Given the description of an element on the screen output the (x, y) to click on. 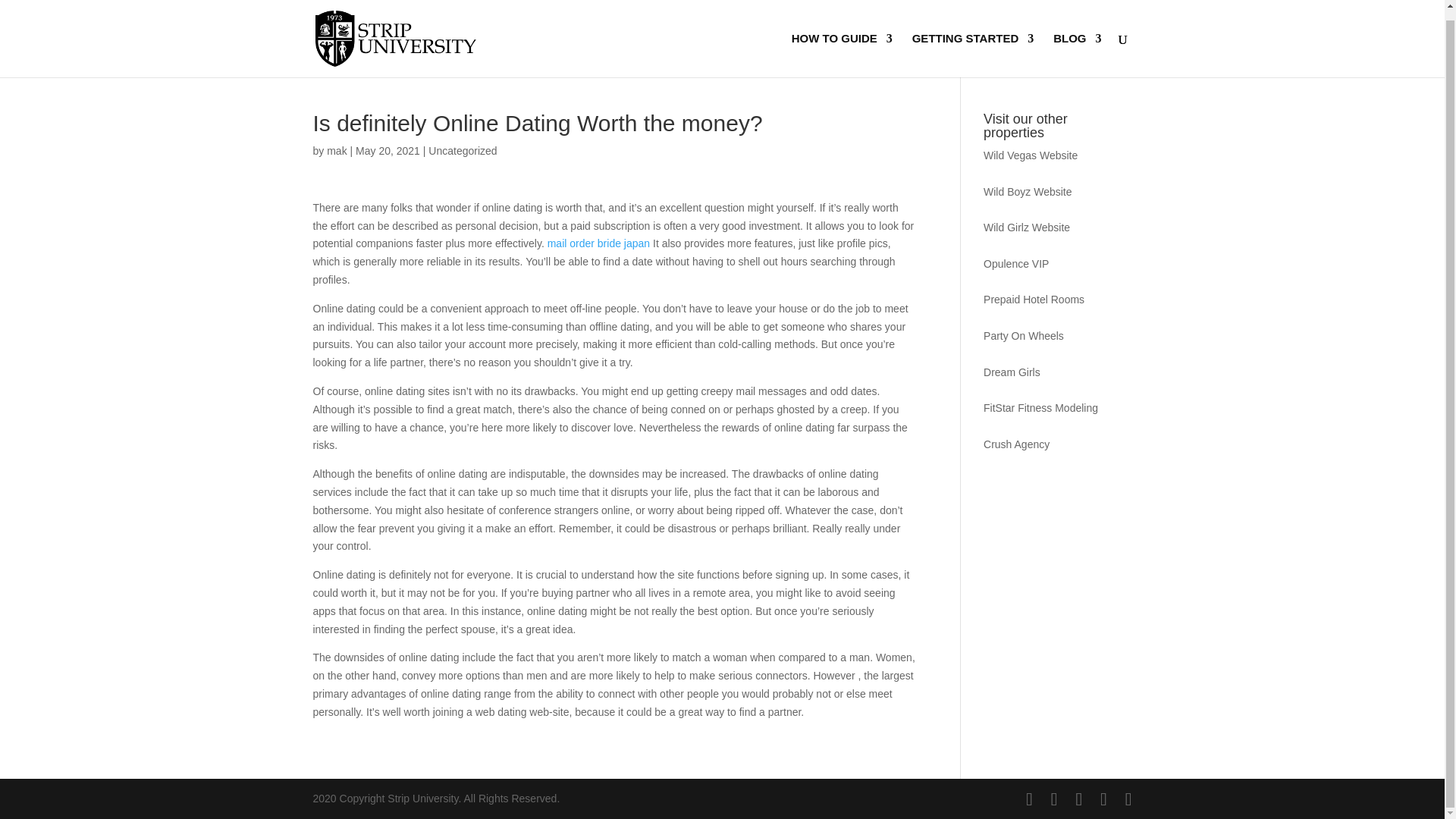
HOW TO GUIDE (842, 45)
Posts by mak (336, 150)
GETTING STARTED (972, 45)
BLOG (1076, 45)
